Given the description of an element on the screen output the (x, y) to click on. 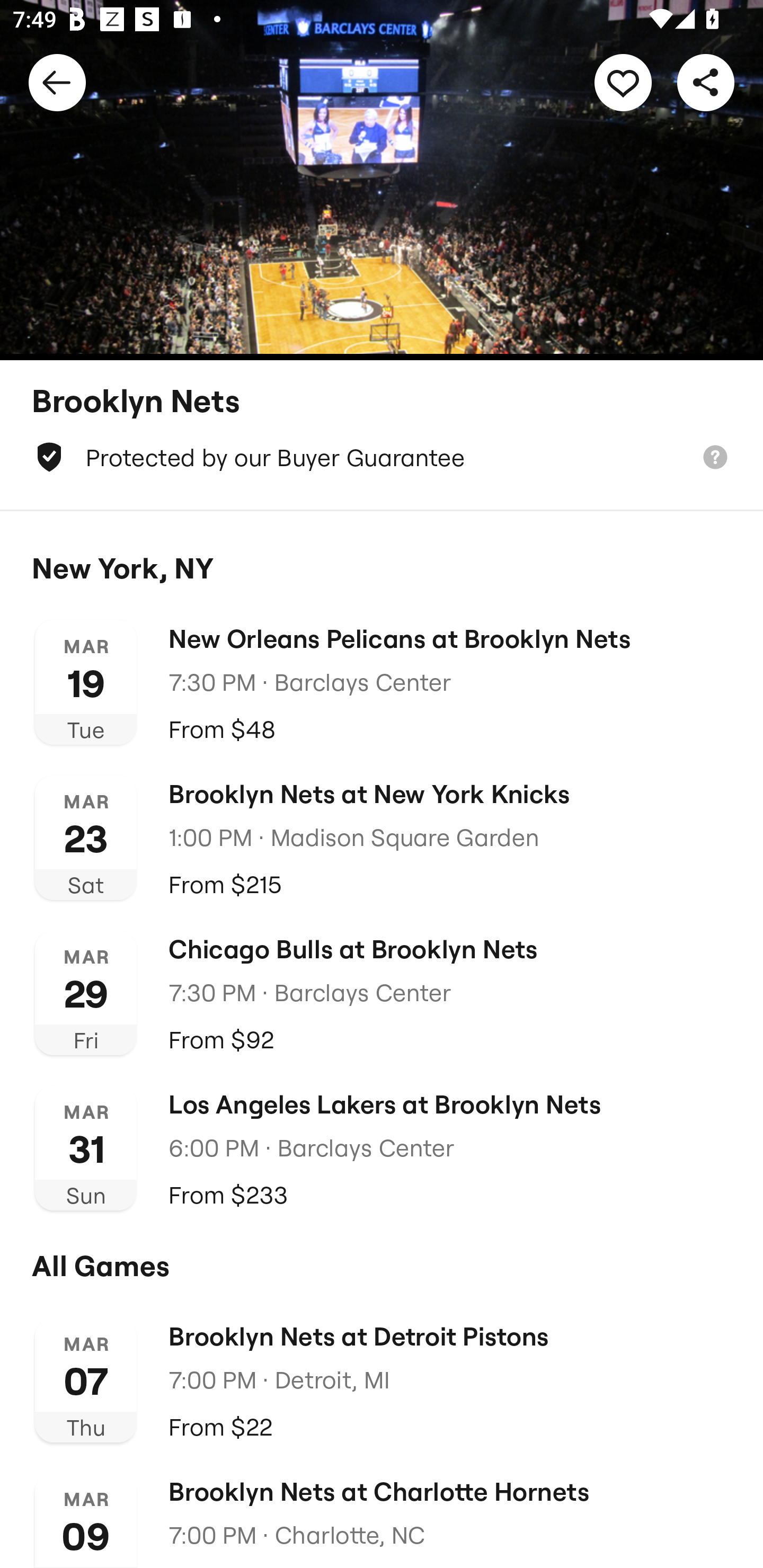
Back (57, 81)
Track this performer (623, 81)
Share this performer (705, 81)
Protected by our Buyer Guarantee Learn more (381, 456)
